Given the description of an element on the screen output the (x, y) to click on. 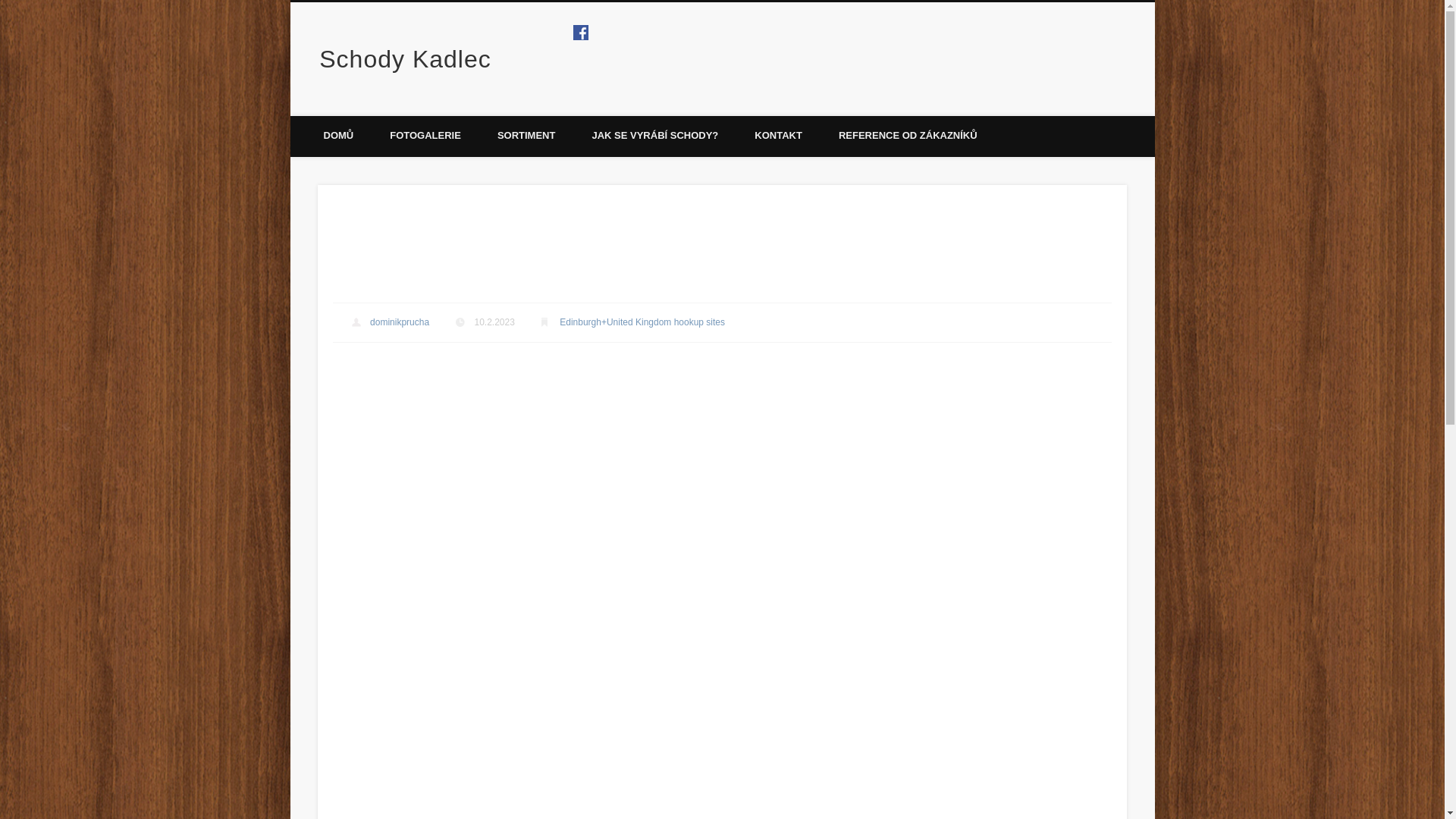
Schody Kadlec (404, 58)
SORTIMENT (526, 136)
dominikprucha (399, 321)
KONTAKT (778, 136)
FOTOGALERIE (425, 136)
